Given the description of an element on the screen output the (x, y) to click on. 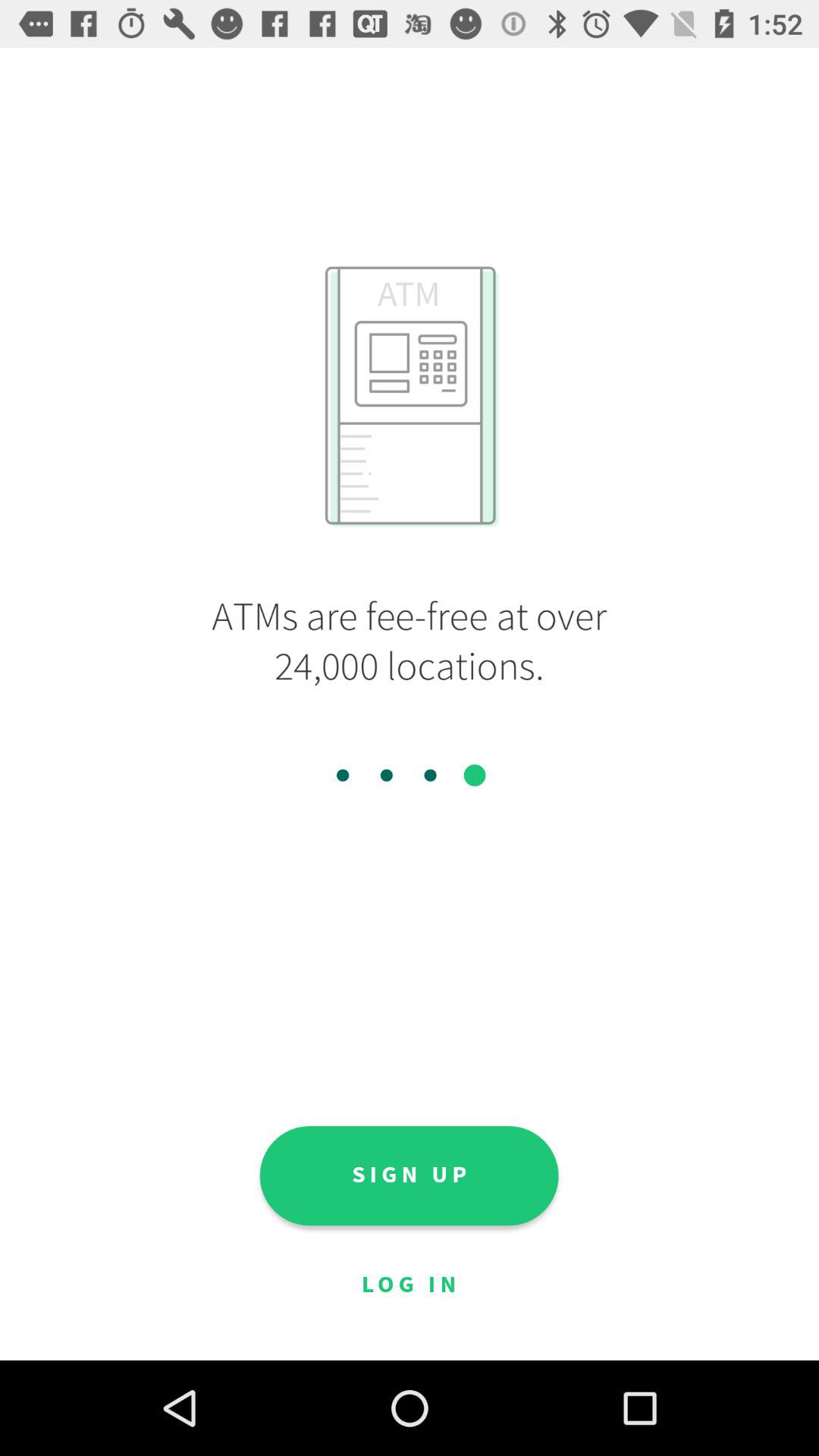
select log in icon (408, 1285)
